Given the description of an element on the screen output the (x, y) to click on. 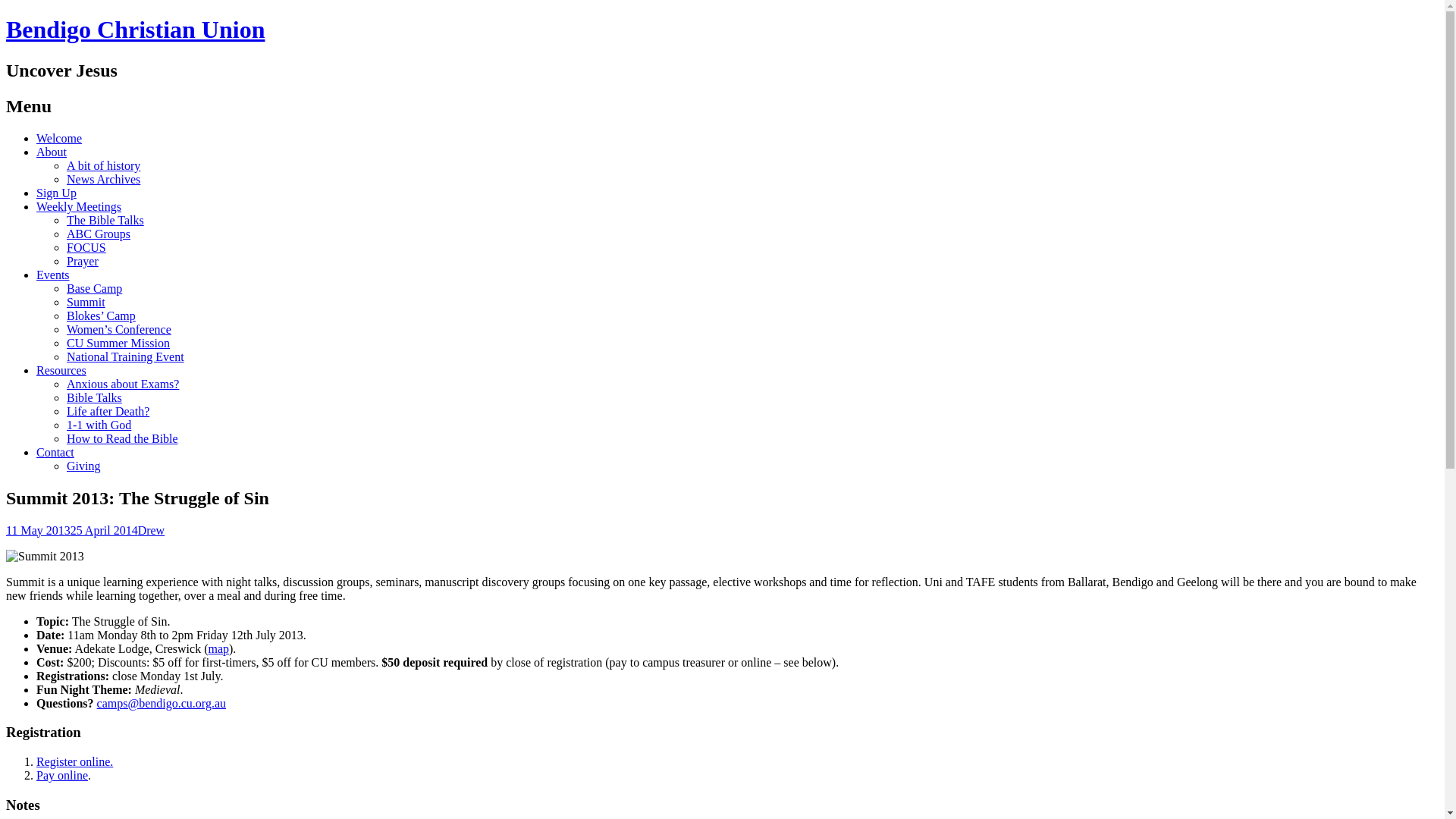
Skip to content Element type: text (22, 151)
1-1 with God Element type: text (98, 424)
Anxious about Exams? Element type: text (122, 383)
Weekly Meetings Element type: text (78, 206)
News Archives Element type: text (103, 178)
A bit of history Element type: text (103, 165)
Base Camp Element type: text (94, 288)
11 May 201325 April 2014 Element type: text (72, 529)
How to Read the Bible Element type: text (122, 438)
Events Element type: text (52, 274)
Summit Element type: text (85, 301)
FOCUS Element type: text (86, 247)
Bible Talks Element type: text (94, 397)
The Bible Talks Element type: text (105, 219)
Prayer Element type: text (82, 260)
Giving Element type: text (83, 465)
National Training Event Element type: text (125, 356)
camps@bendigo.cu.org.au Element type: text (161, 702)
Register online. Element type: text (74, 761)
CU Summer Mission Element type: text (117, 342)
map Element type: text (218, 647)
ABC Groups Element type: text (98, 233)
Life after Death? Element type: text (107, 410)
Resources Element type: text (61, 370)
Welcome Element type: text (58, 137)
Drew Element type: text (151, 529)
Pay online Element type: text (61, 774)
About Element type: text (51, 151)
Contact Element type: text (55, 451)
Bendigo Christian Union Element type: text (135, 29)
Sign Up Element type: text (56, 192)
